Given the description of an element on the screen output the (x, y) to click on. 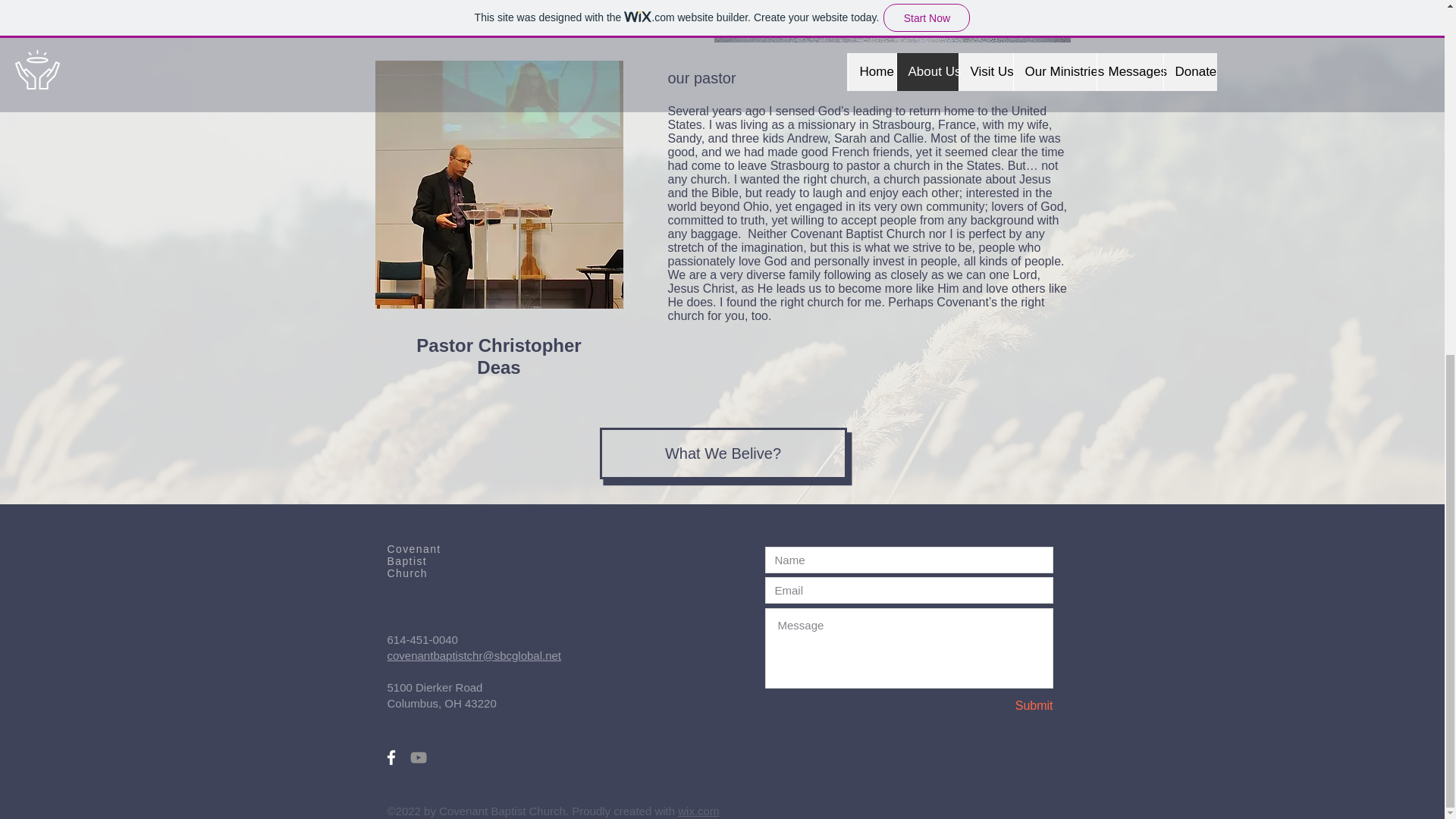
What We Belive? (721, 453)
wix.com (698, 810)
Submit (998, 705)
